Given the description of an element on the screen output the (x, y) to click on. 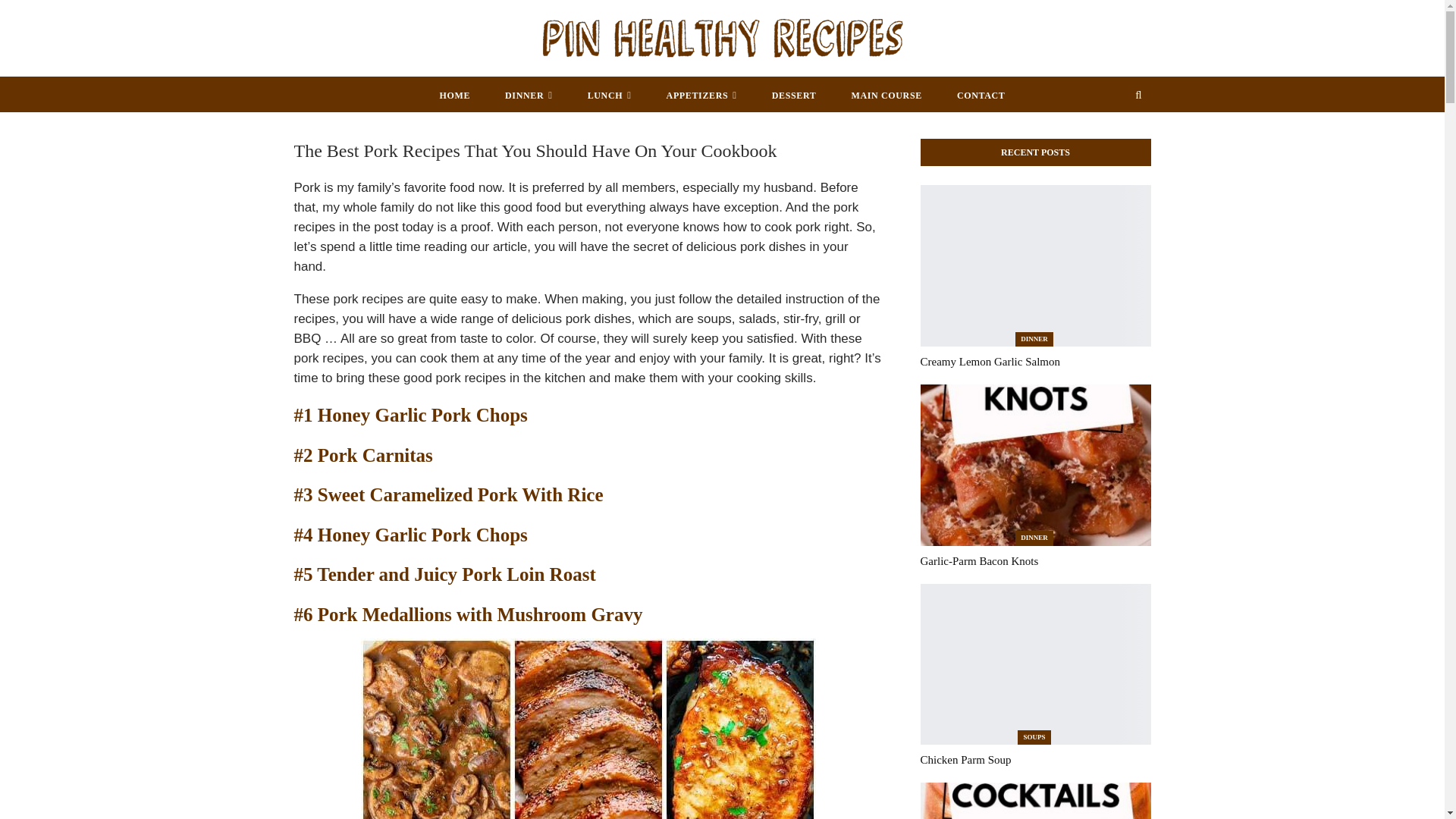
LUNCH (609, 95)
DINNER (529, 95)
HOME (454, 95)
APPETIZERS (701, 95)
